Given the description of an element on the screen output the (x, y) to click on. 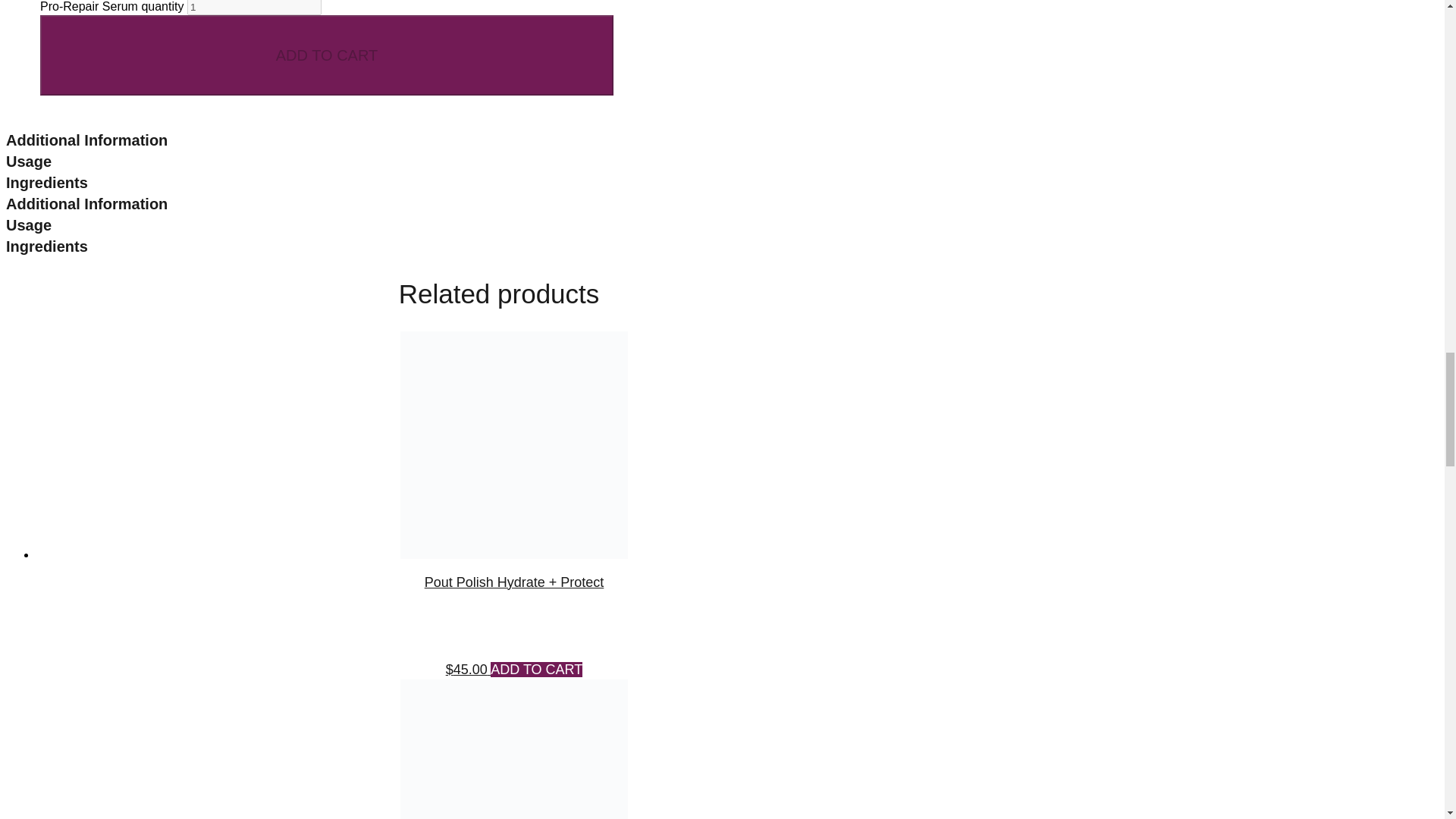
1 (254, 7)
